Given the description of an element on the screen output the (x, y) to click on. 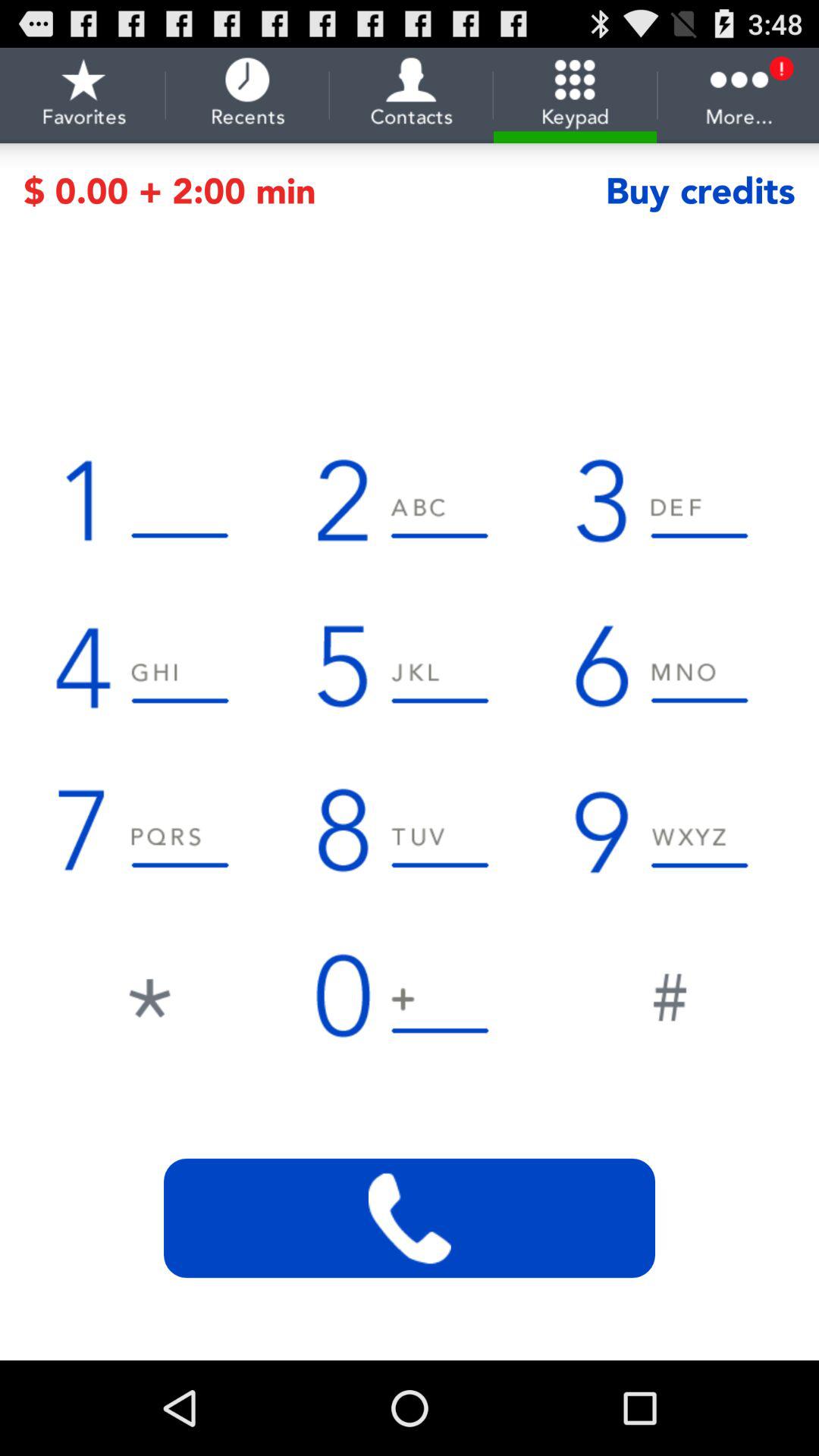
scroll to the 0 00 2 item (314, 190)
